Given the description of an element on the screen output the (x, y) to click on. 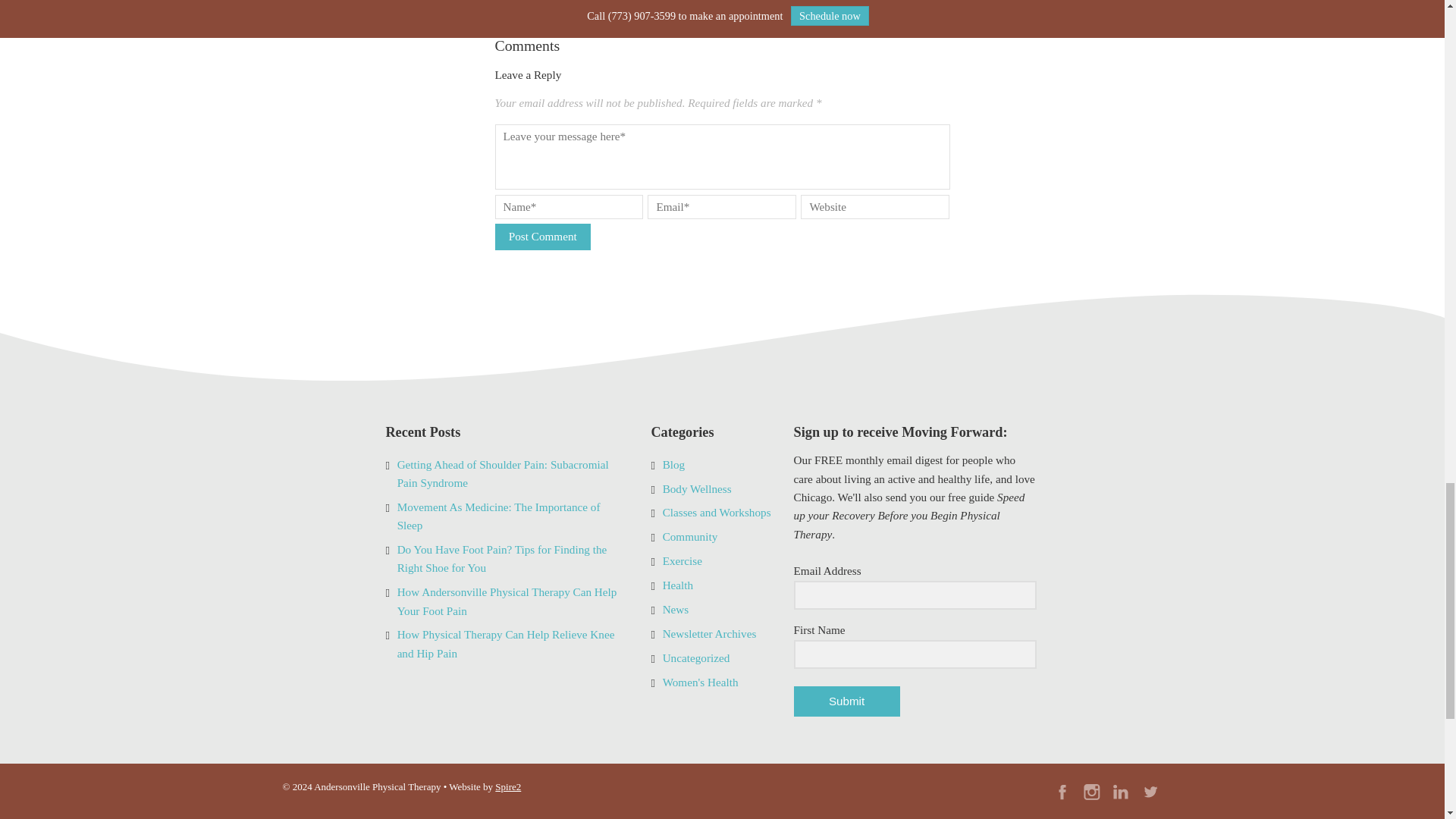
Post Comment (542, 236)
